Given the description of an element on the screen output the (x, y) to click on. 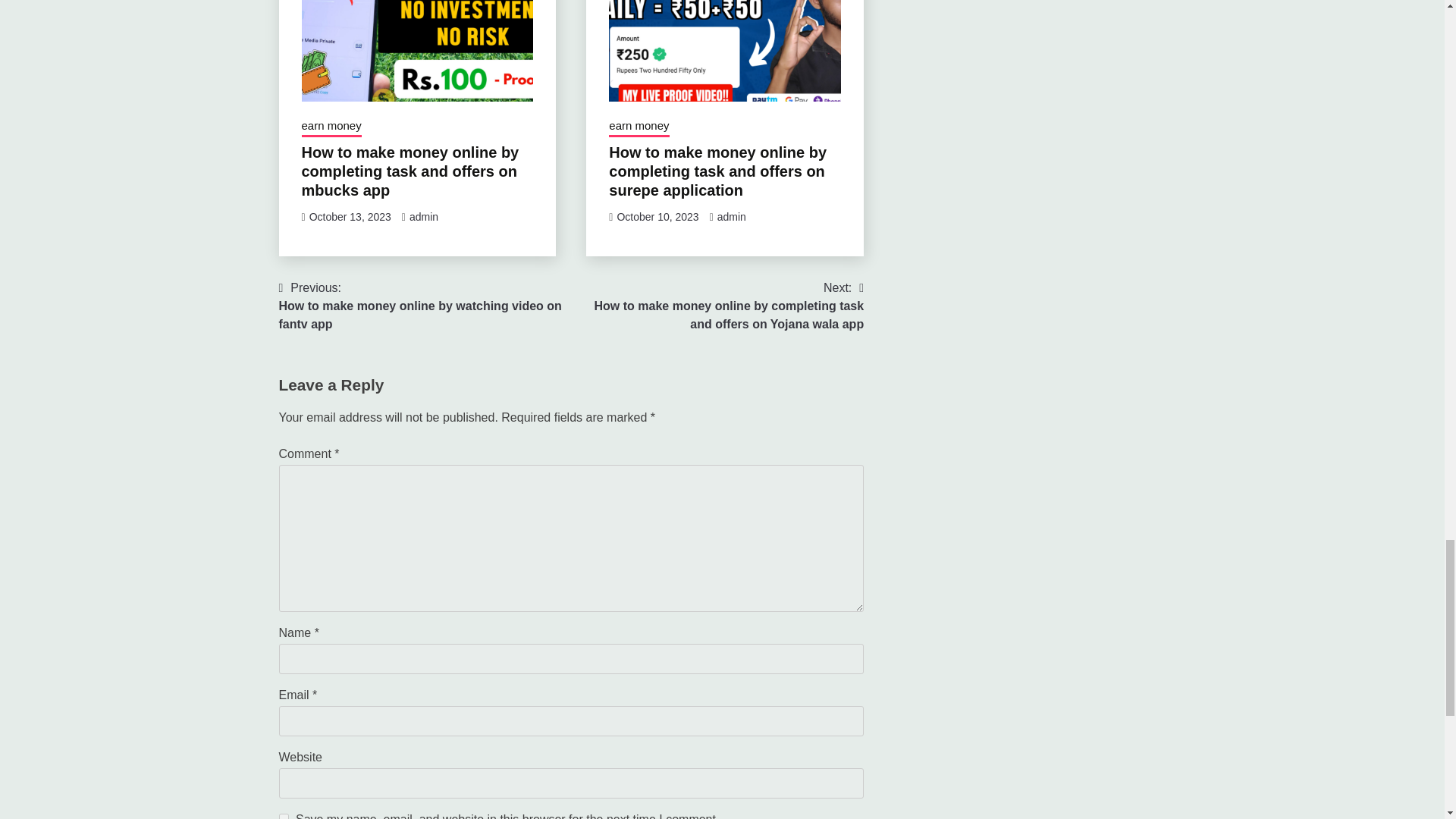
earn money (638, 127)
admin (731, 216)
October 13, 2023 (349, 216)
October 10, 2023 (656, 216)
earn money (331, 127)
admin (423, 216)
yes (283, 816)
